Given the description of an element on the screen output the (x, y) to click on. 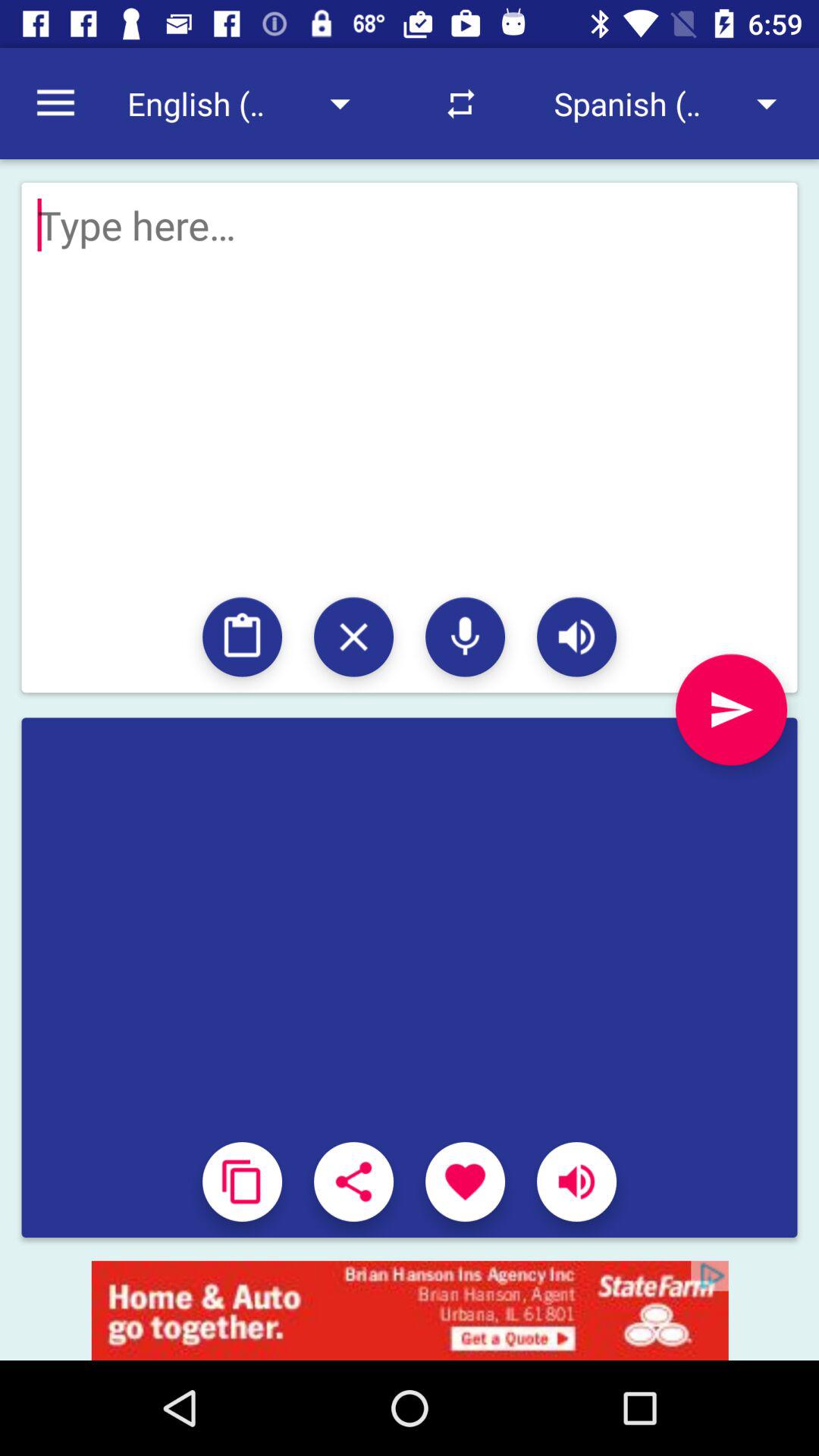
go to previous (731, 709)
